Given the description of an element on the screen output the (x, y) to click on. 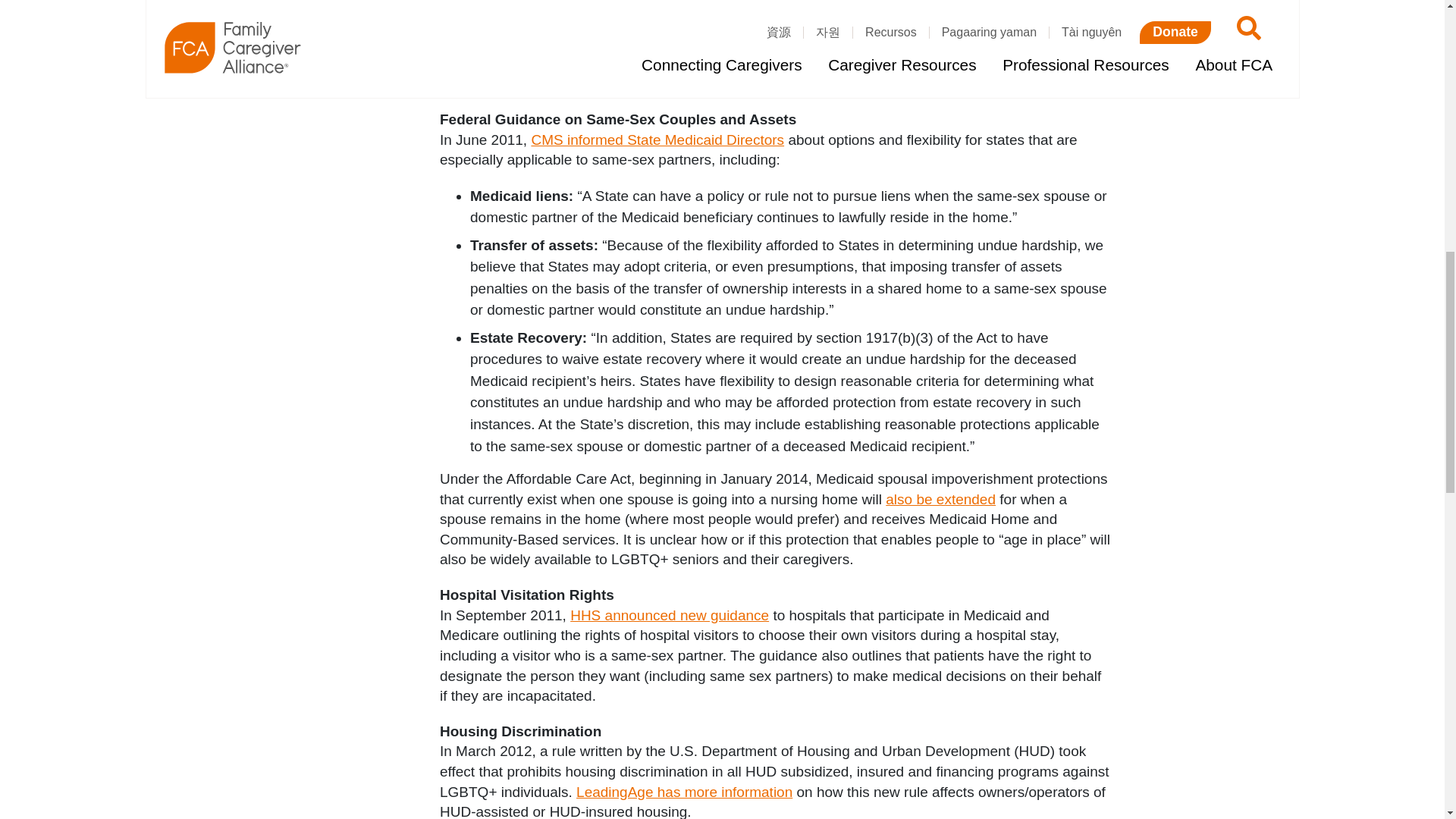
CMS Letter to State Medicaid Directors (657, 139)
Leading Age: "HUD Final Rule Prohibits LGBT Discrimination" (684, 791)
